Given the description of an element on the screen output the (x, y) to click on. 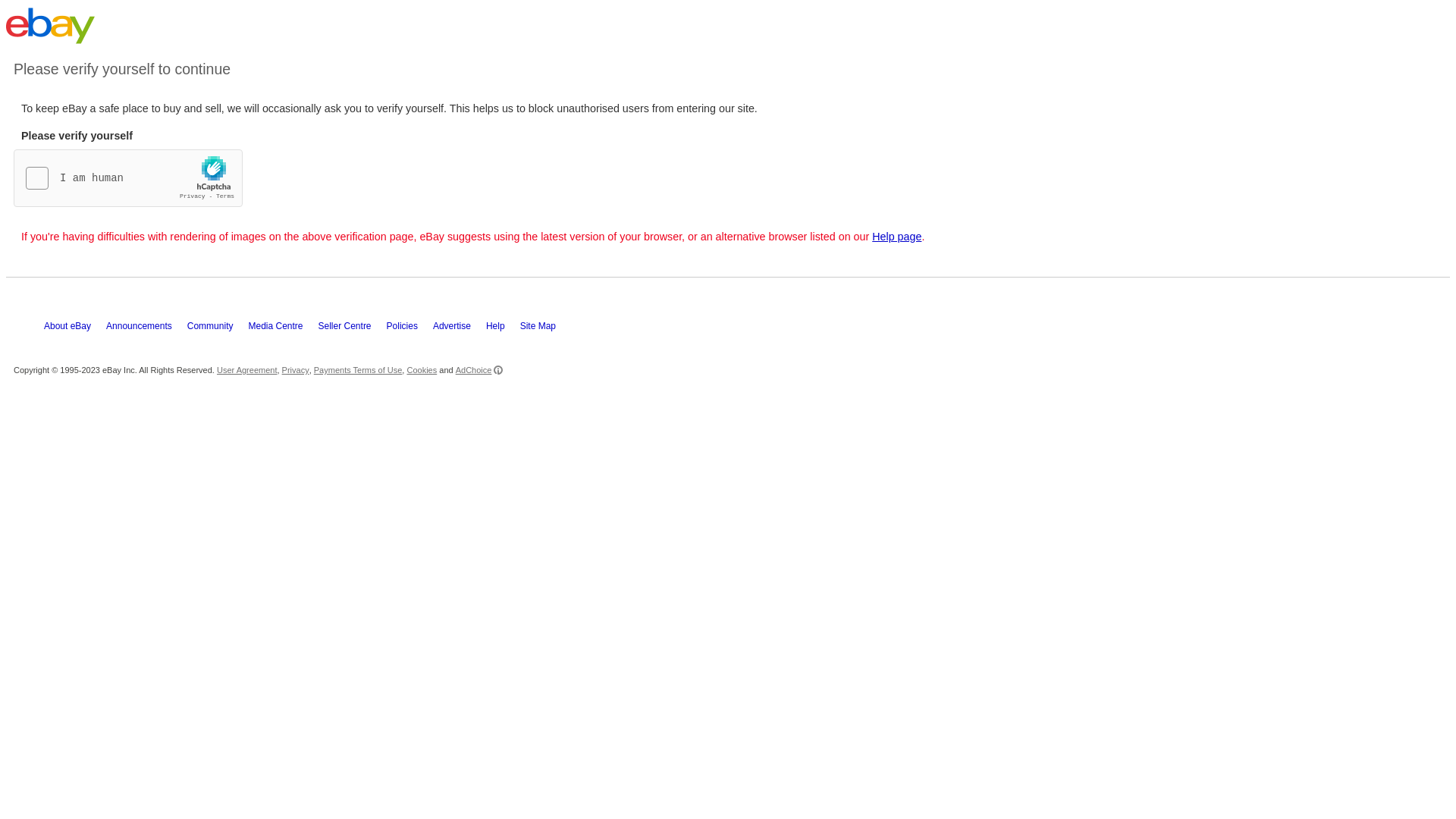
Widget containing checkbox for hCaptcha security challenge Element type: hover (128, 178)
Privacy Element type: text (295, 369)
Cookies Element type: text (421, 369)
User Agreement Element type: text (246, 369)
Community Element type: text (217, 329)
Policies Element type: text (409, 329)
Announcements Element type: text (146, 329)
Media Centre Element type: text (282, 329)
Help page Element type: text (896, 236)
Site Map Element type: text (545, 329)
About eBay Element type: text (74, 329)
Advertise Element type: text (459, 329)
Help Element type: text (503, 329)
Payments Terms of Use Element type: text (357, 369)
Seller Centre Element type: text (352, 329)
AdChoice Element type: text (479, 369)
